Given the description of an element on the screen output the (x, y) to click on. 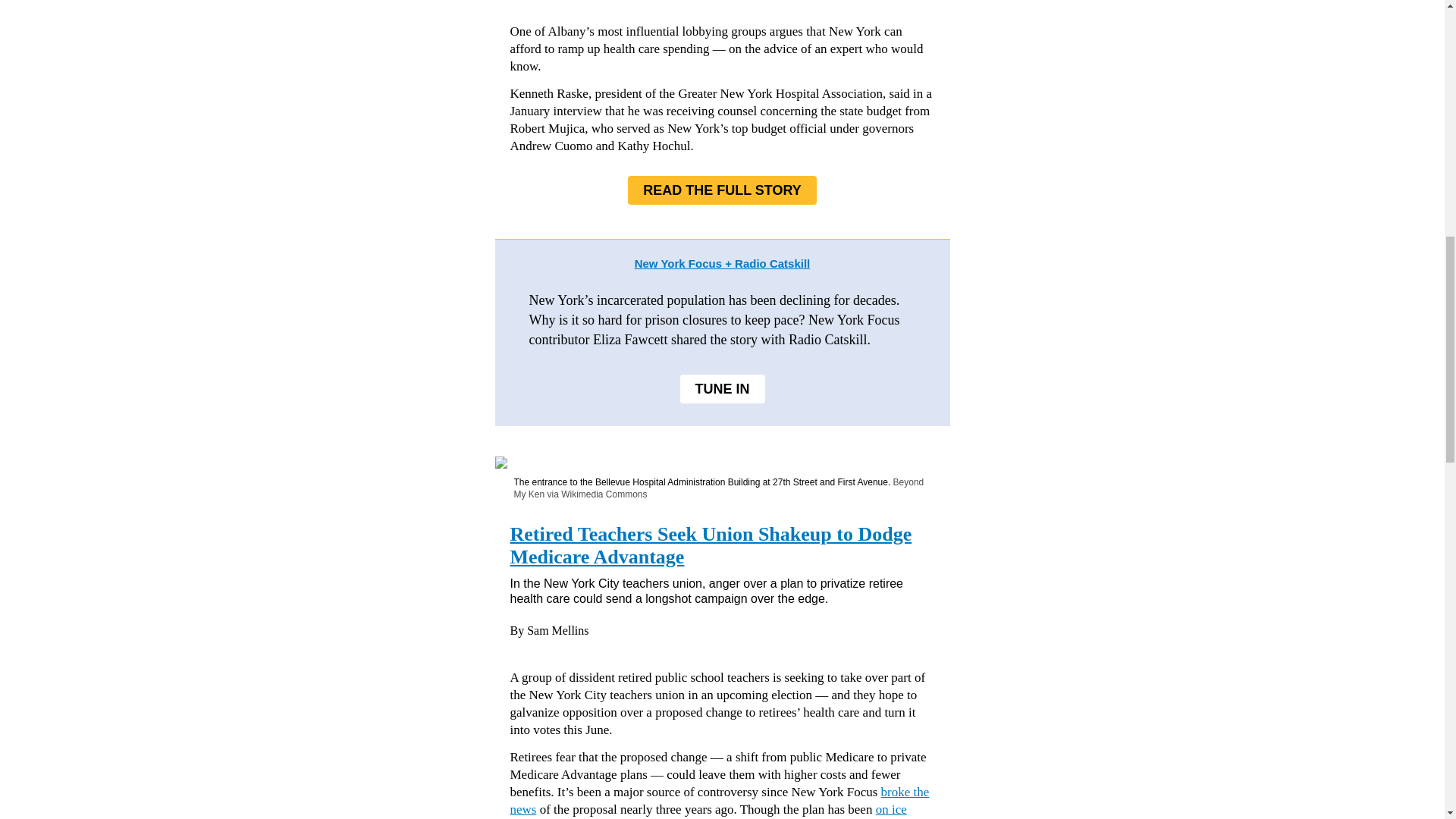
TUNE IN (721, 388)
broke the news (718, 800)
READ THE FULL STORY (721, 190)
on ice (891, 809)
